Given the description of an element on the screen output the (x, y) to click on. 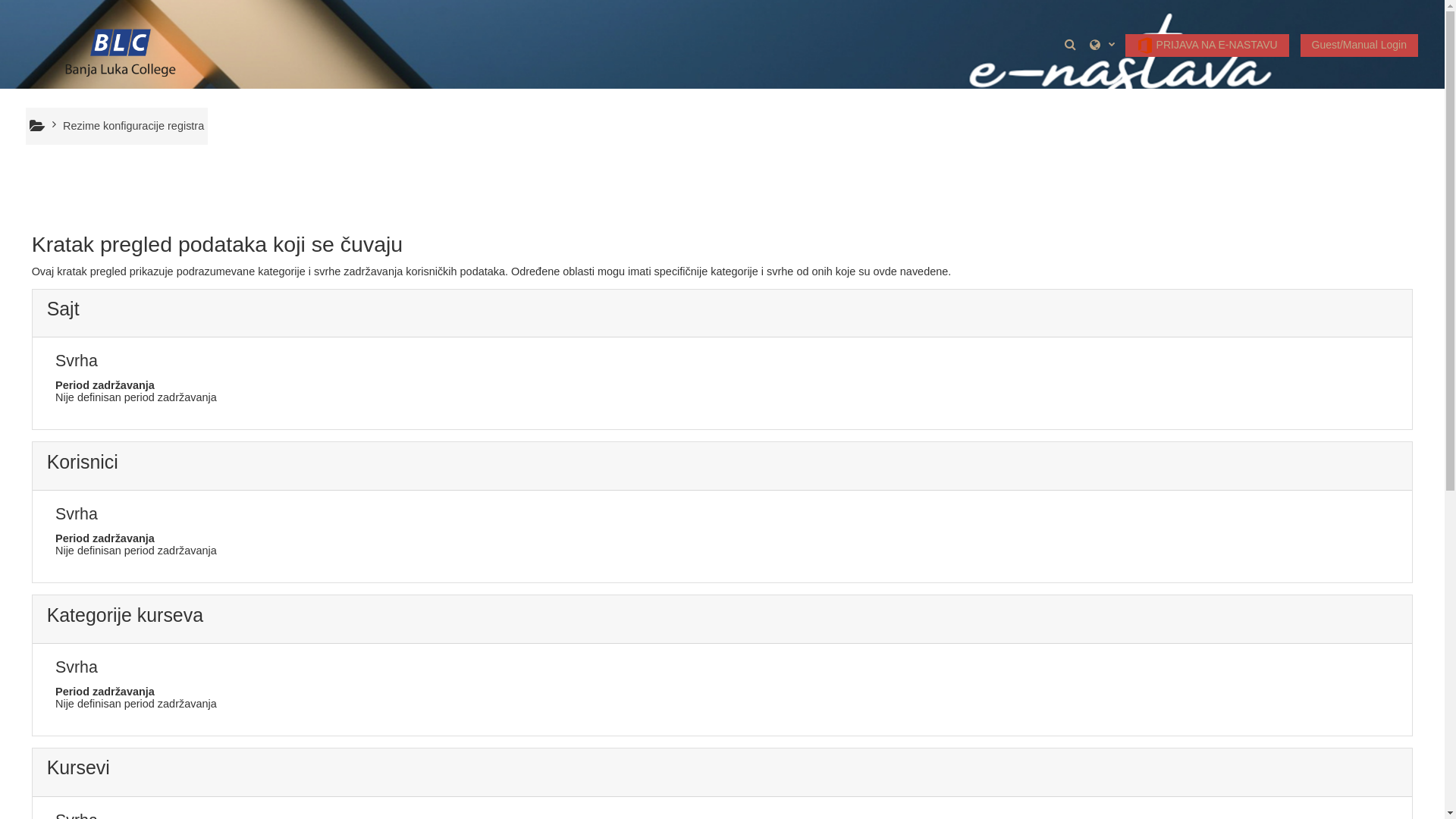
Jezik Element type: hover (1101, 44)
Banja Luka College E-nastava Element type: hover (120, 43)
PRIJAVA NA E-NASTAVU Element type: text (1207, 45)
Guest/Manual Login Element type: text (1359, 45)
Home Element type: hover (37, 125)
